Given the description of an element on the screen output the (x, y) to click on. 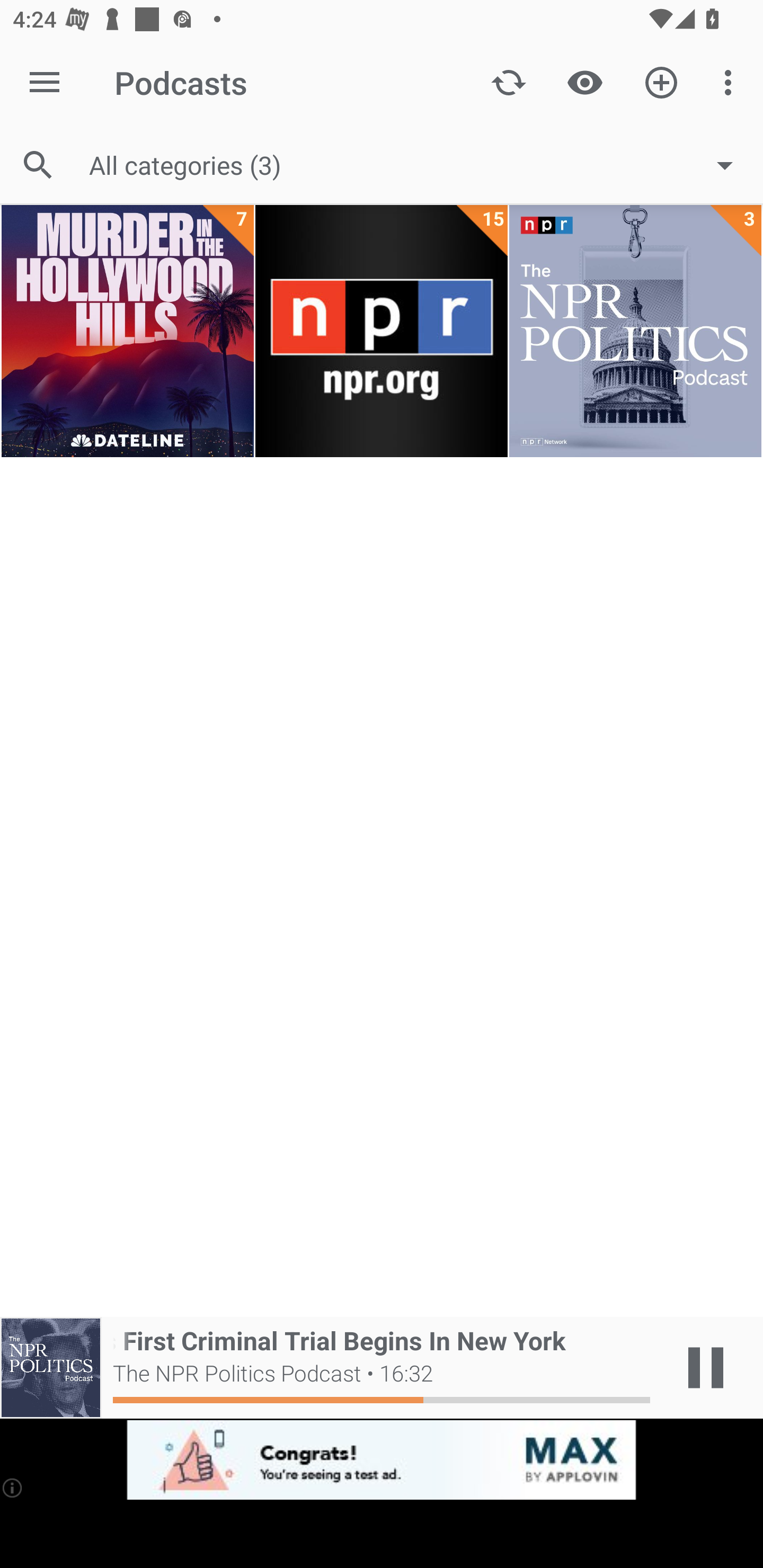
Open navigation sidebar (44, 82)
Update (508, 81)
Show / Hide played content (585, 81)
Add new Podcast (661, 81)
More options (731, 81)
Search (38, 165)
All categories (3) (419, 165)
Murder in the Hollywood Hills 7 (127, 331)
Stories from NPR : NPR 15 (381, 331)
The NPR Politics Podcast 3 (634, 331)
Play / Pause (705, 1367)
app-monetization (381, 1459)
(i) (11, 1487)
